Given the description of an element on the screen output the (x, y) to click on. 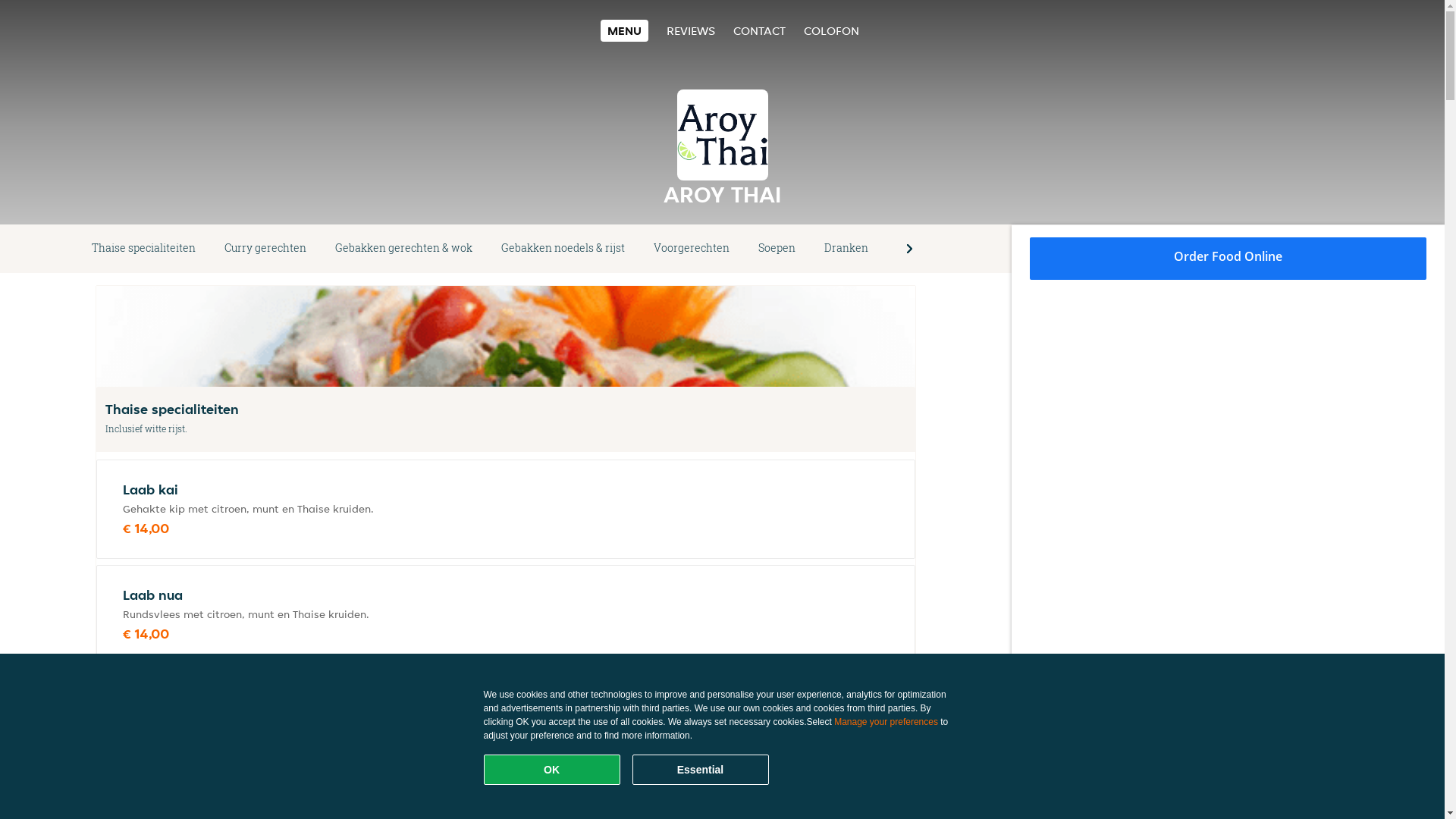
Soepen Element type: text (776, 248)
Bier & wijn Element type: text (923, 248)
Thaise specialiteiten Element type: text (143, 248)
MENU Element type: text (624, 30)
Gebakken gerechten & wok Element type: text (403, 248)
COLOFON Element type: text (831, 30)
Manage your preferences Element type: text (886, 721)
Curry gerechten Element type: text (265, 248)
Essential Element type: text (700, 769)
CONTACT Element type: text (759, 30)
OK Element type: text (551, 769)
Order Food Online Element type: text (1228, 258)
Dranken Element type: text (845, 248)
Voorgerechten Element type: text (691, 248)
Gebakken noedels & rijst Element type: text (562, 248)
REVIEWS Element type: text (690, 30)
